Given the description of an element on the screen output the (x, y) to click on. 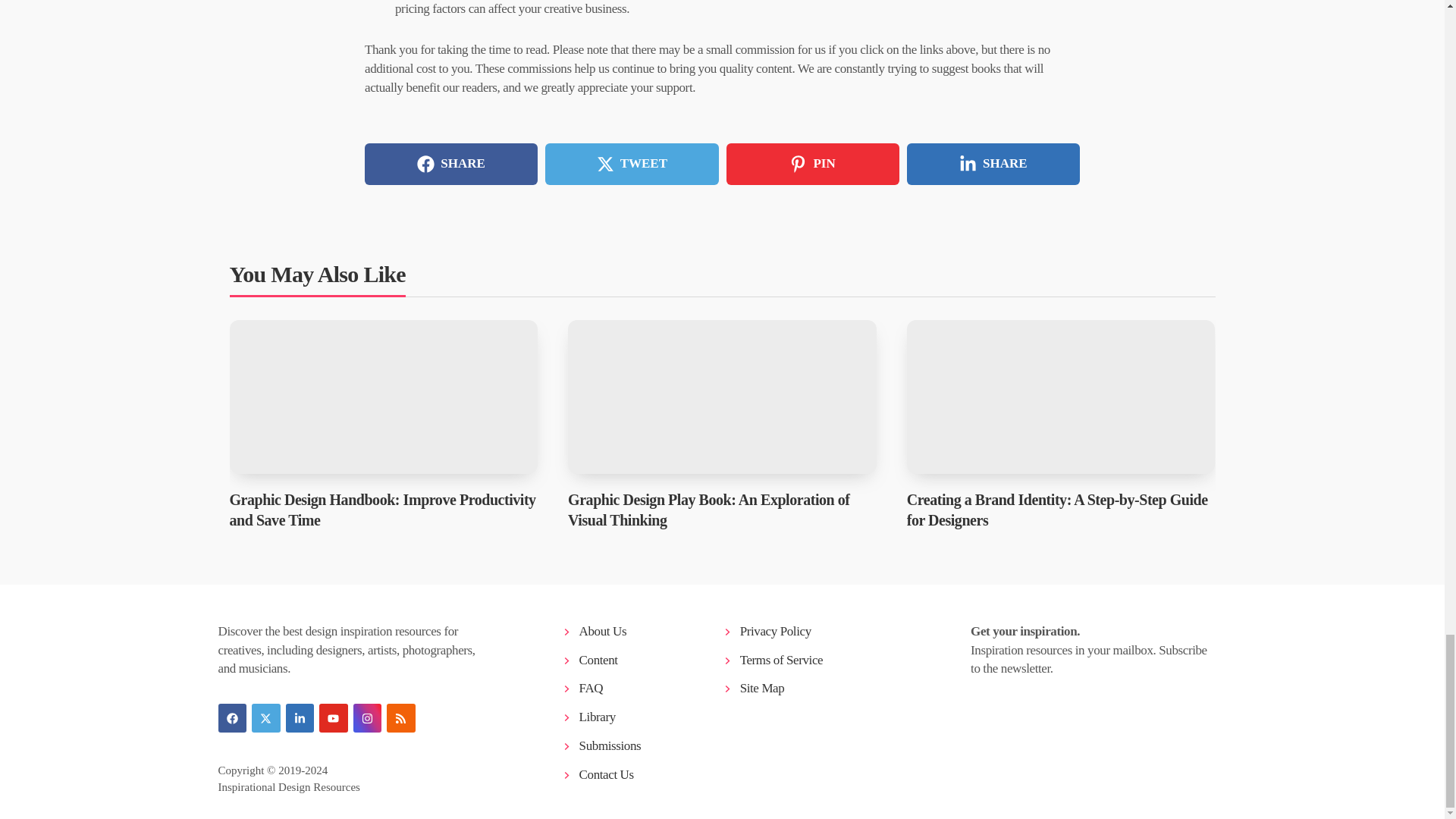
instagram (367, 717)
rss (400, 717)
Graphic Design Handbook: Improve Productivity and Save Time (382, 397)
youtube (332, 717)
Graphic Design Play Book: An Exploration of Visual Thinking (707, 509)
Graphic Design Handbook: Improve Productivity and Save Time (381, 509)
linkedin (299, 717)
Graphic Design Play Book: An Exploration of Visual Thinking (721, 397)
twitter (266, 717)
facebook (232, 717)
